Given the description of an element on the screen output the (x, y) to click on. 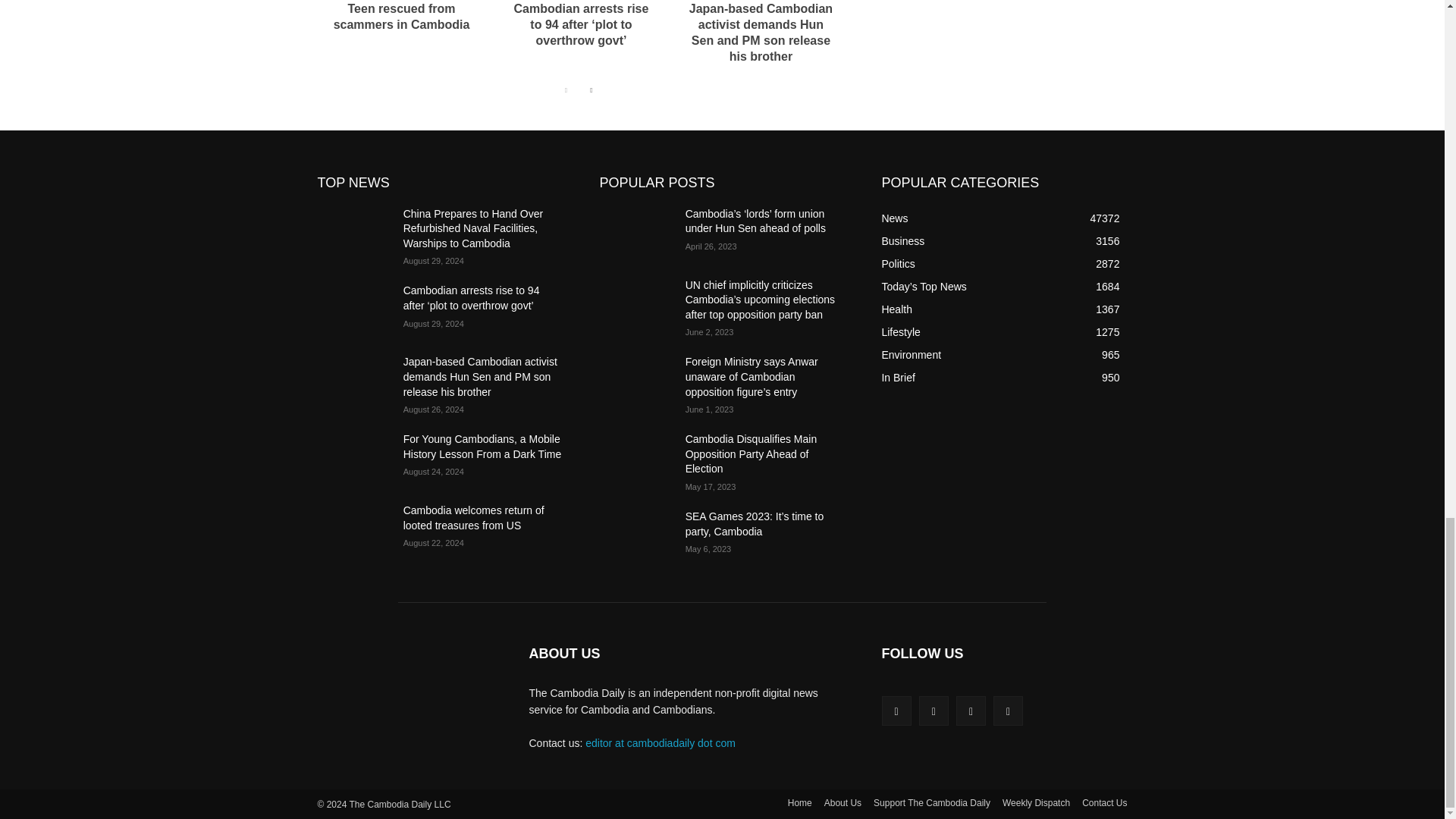
Teen rescued from scammers in Cambodia (401, 16)
Teen rescued from scammers in Cambodia (401, 16)
